Given the description of an element on the screen output the (x, y) to click on. 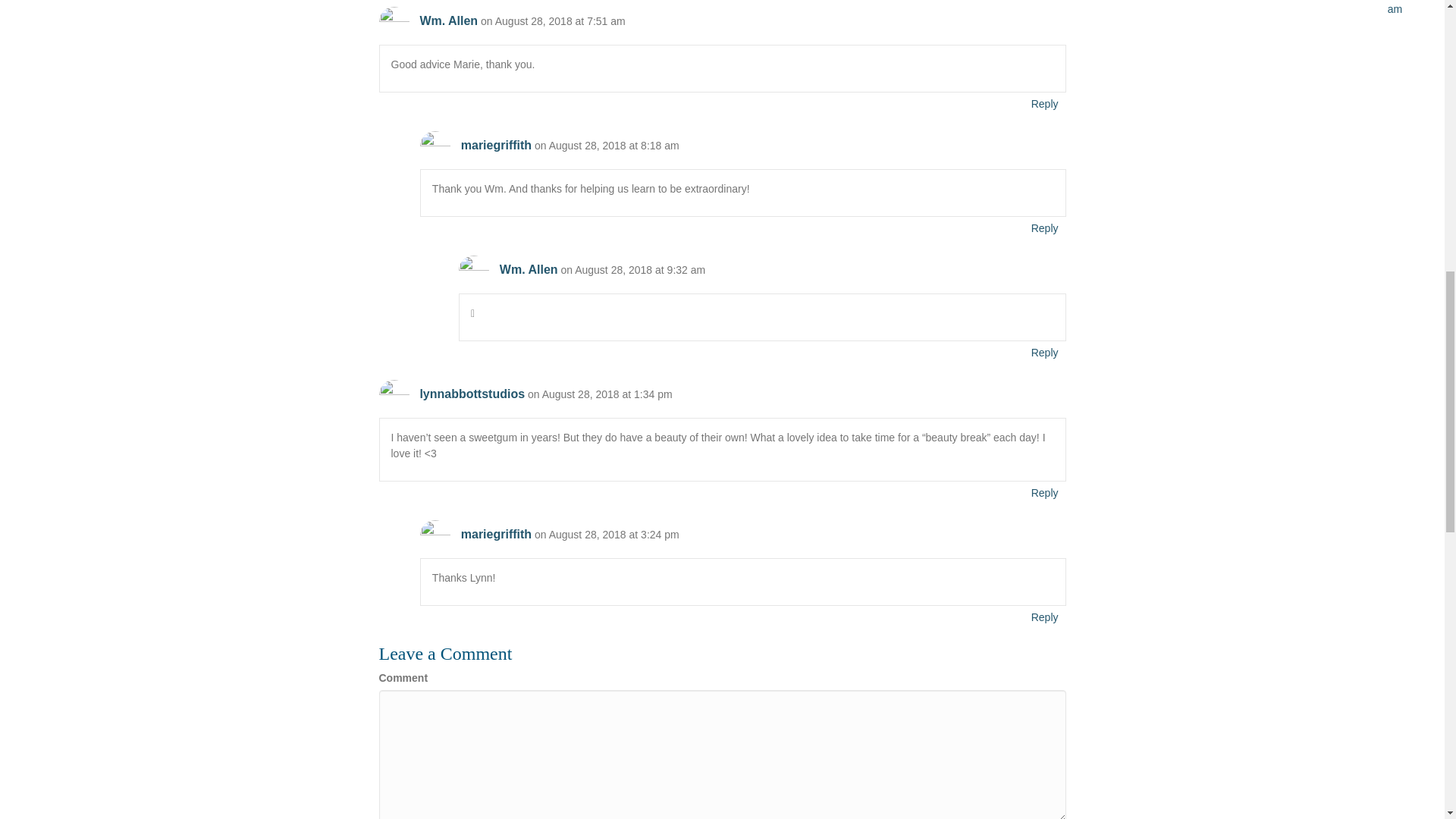
Reply (1044, 352)
Reply (1044, 492)
Reply (1044, 617)
mariegriffith (496, 144)
mariegriffith (496, 533)
lynnabbottstudios (471, 393)
Wm. Allen (448, 20)
Reply (1044, 228)
Reply (1044, 103)
Wm. Allen (528, 269)
